Given the description of an element on the screen output the (x, y) to click on. 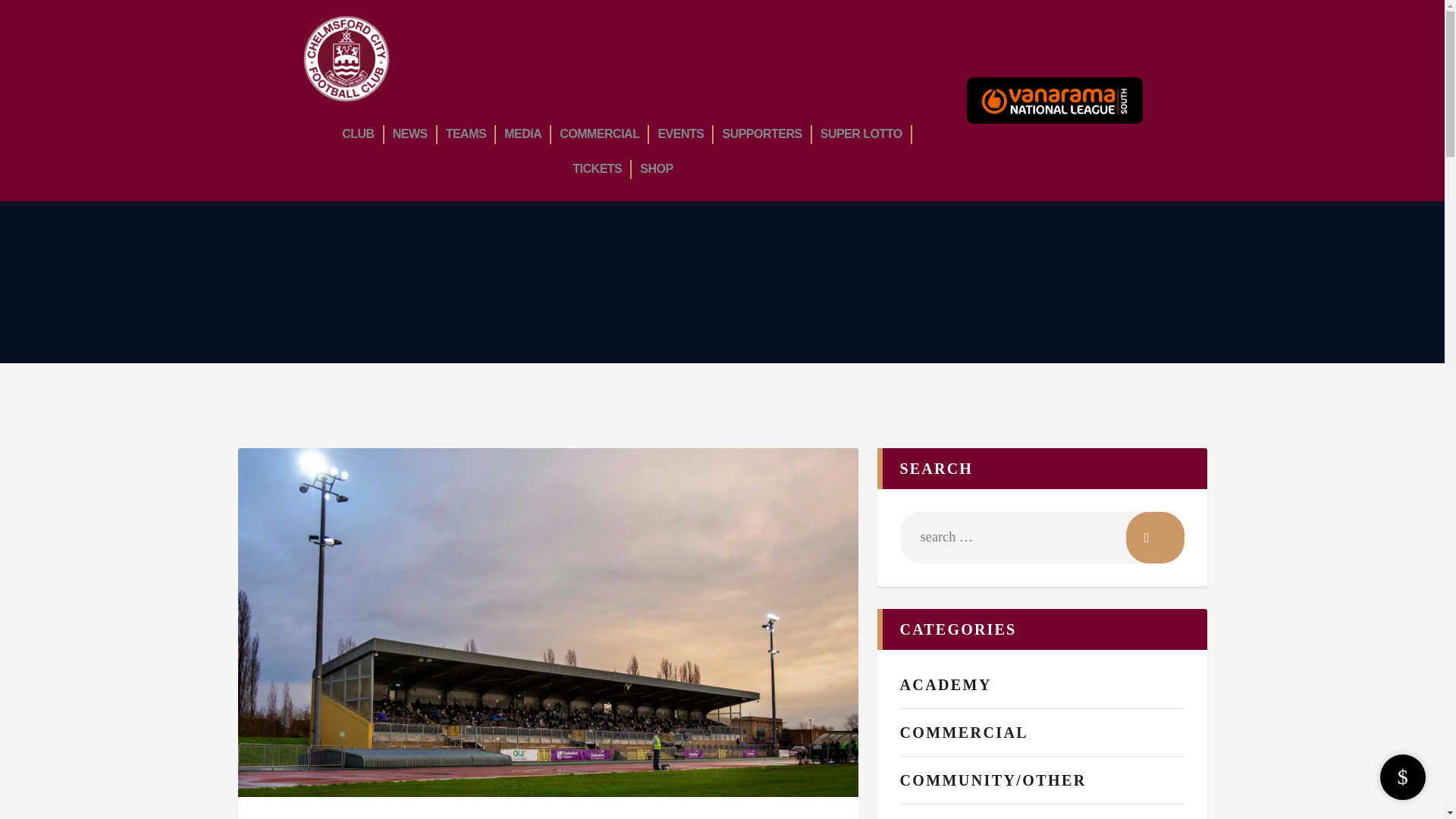
CLUB (357, 134)
NEWS (409, 134)
COMMERCIAL (599, 134)
MEDIA (523, 134)
Search (1154, 536)
TEAMS (466, 134)
Search (1154, 536)
